Given the description of an element on the screen output the (x, y) to click on. 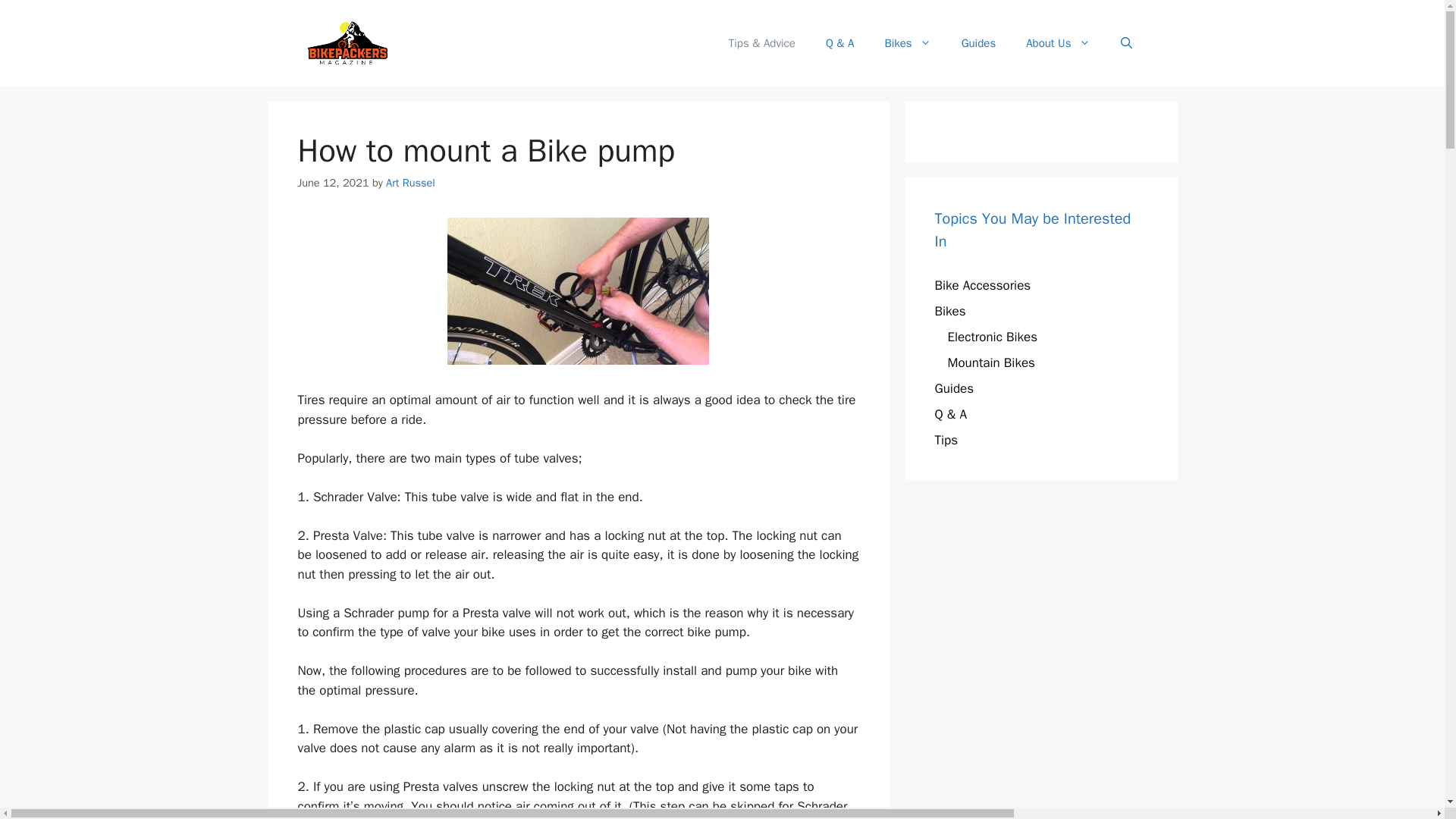
Art Russel (410, 182)
View all posts by Art Russel (410, 182)
Guides (978, 43)
Bikes (906, 43)
Bike Accessories (982, 285)
About Us (1057, 43)
Tips (946, 439)
Bikes (949, 311)
Electronic Bikes (992, 336)
Mountain Bikes (991, 362)
Guides (954, 388)
